Given the description of an element on the screen output the (x, y) to click on. 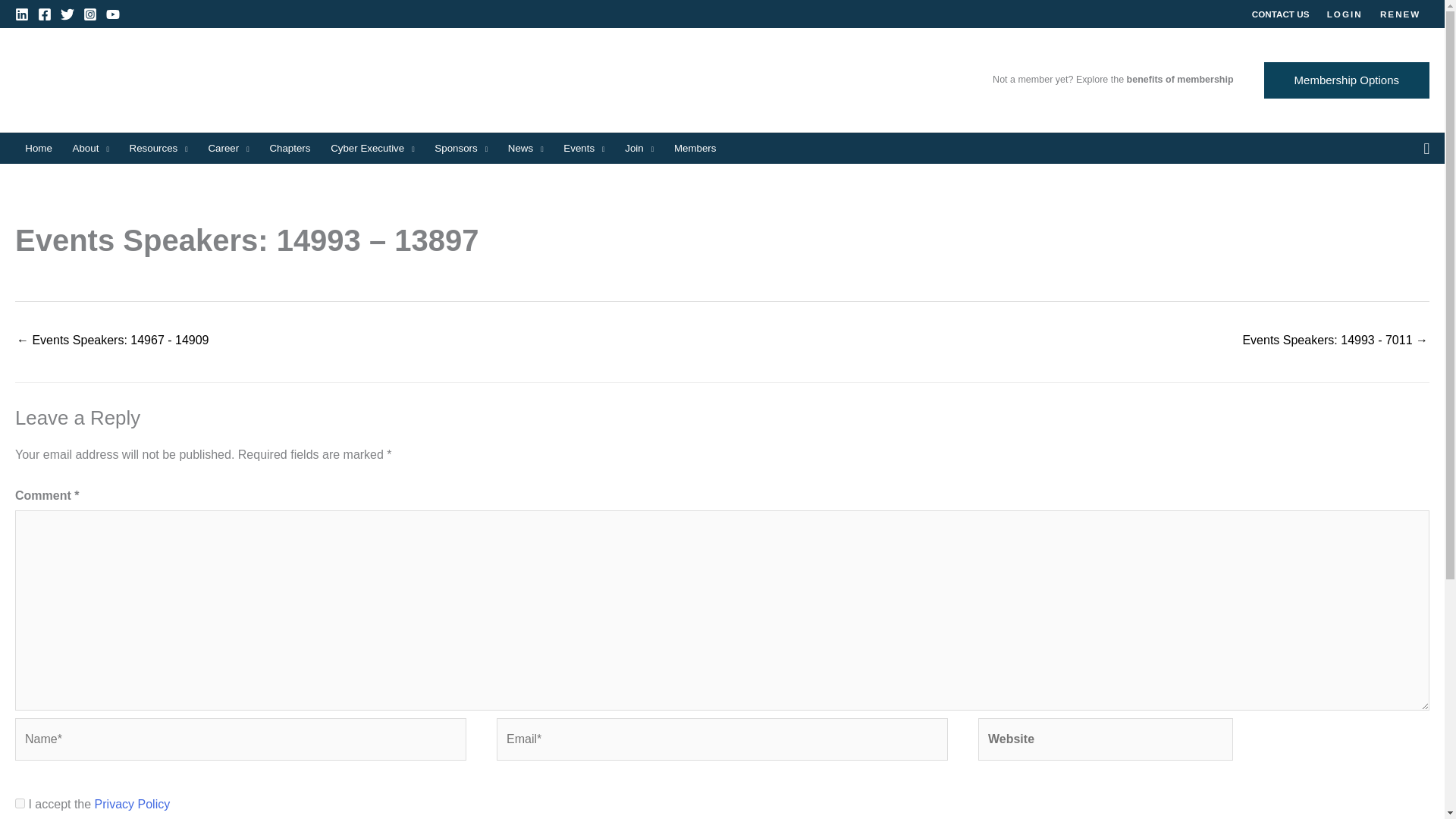
LOGIN (1344, 13)
Resources (158, 148)
Events Speakers: 14993 - 7011 (1334, 341)
Home (38, 148)
Membership Options (1346, 80)
About (90, 148)
RENEW (1400, 13)
Events Speakers: 14967 - 14909 (112, 341)
1 (19, 803)
CONTACT US (1280, 13)
